Given the description of an element on the screen output the (x, y) to click on. 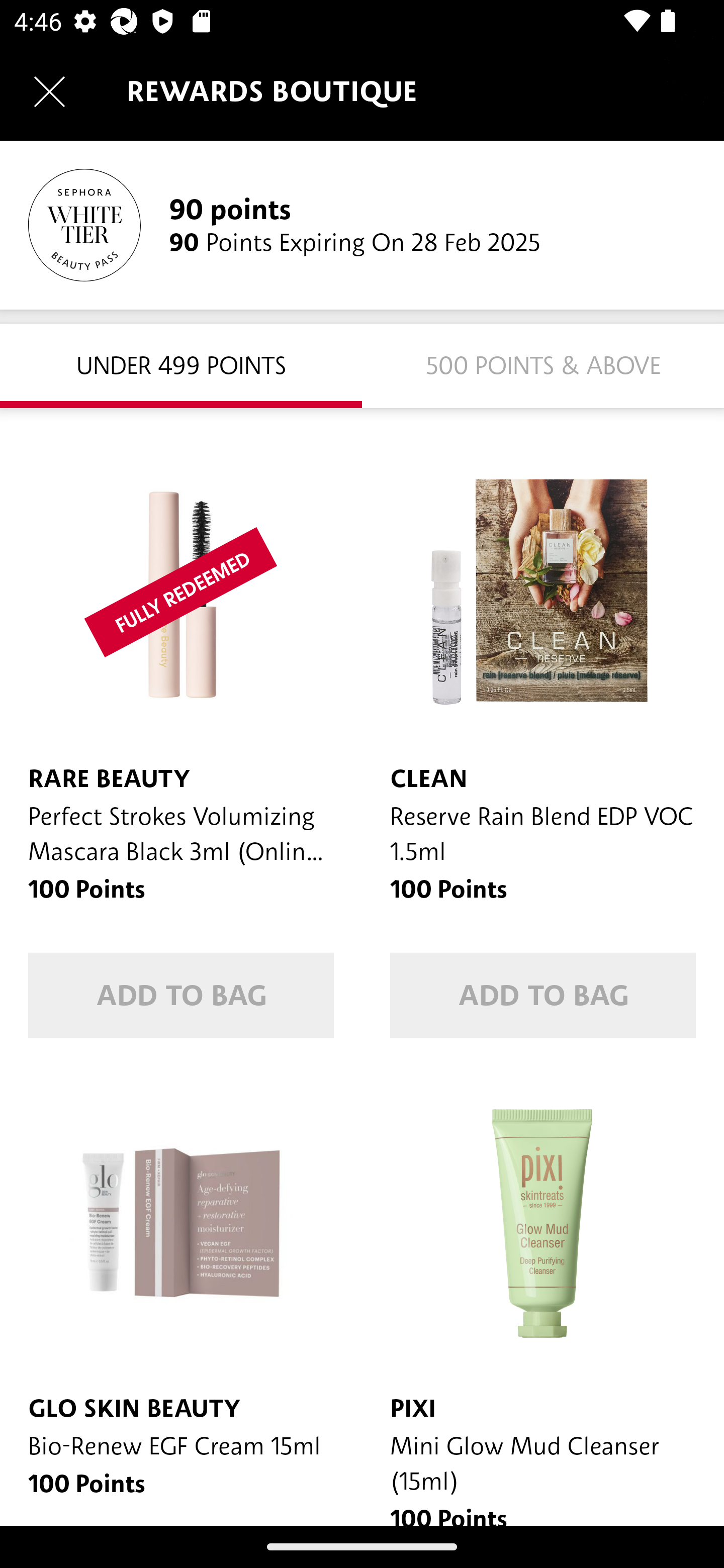
Navigate up (49, 91)
500 Points & Above 500 POINTS & ABOVE (543, 365)
ADD TO BAG (180, 995)
ADD TO BAG (542, 995)
PIXI Mini Glow Mud Cleanser (15ml) 100 Points (543, 1295)
